Given the description of an element on the screen output the (x, y) to click on. 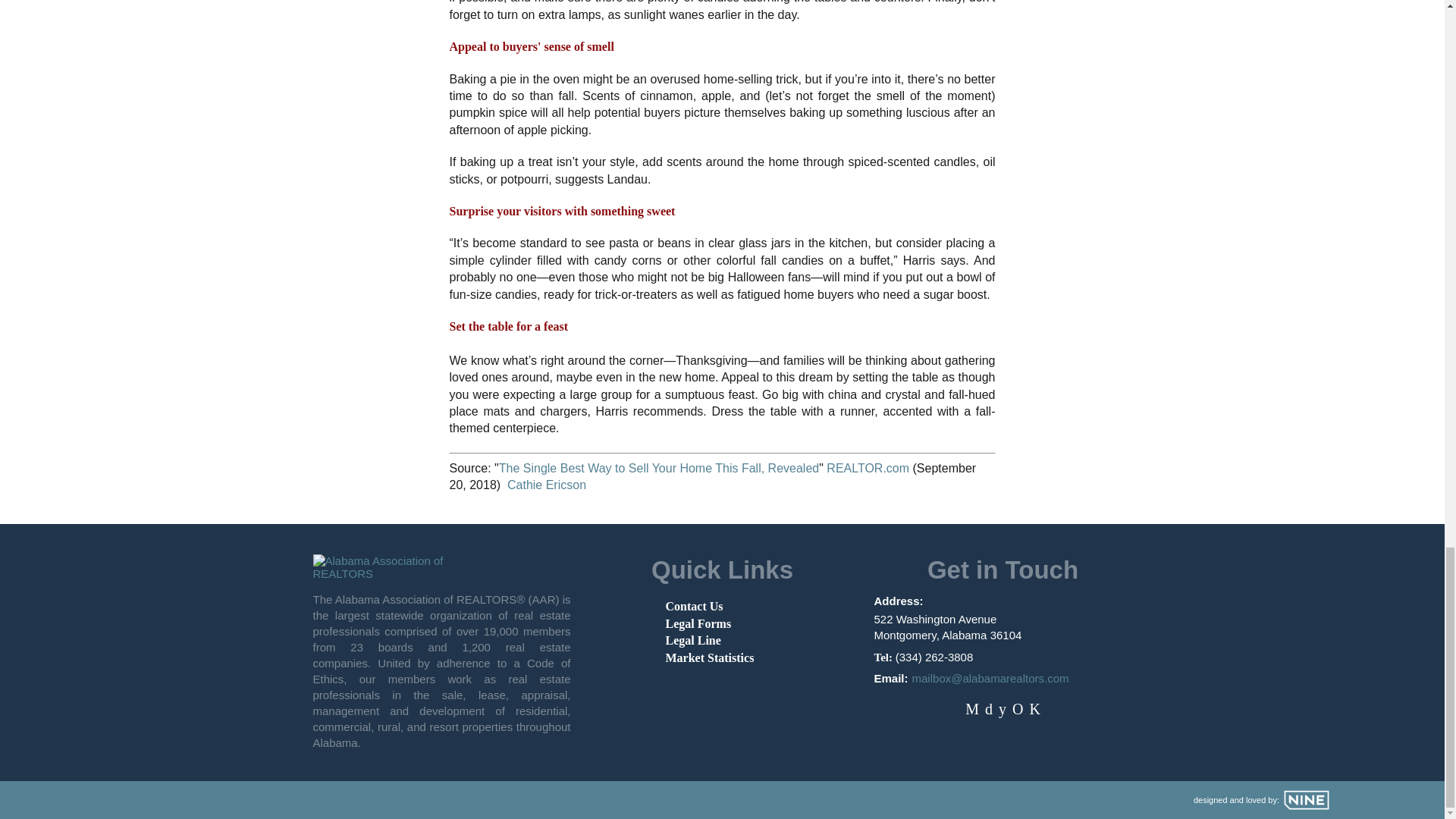
Legal Forms (698, 623)
Market Statistics (709, 657)
Legal Line (692, 640)
The Single Best Way to Sell Your Home This Fall, Revealed (658, 468)
REALTOR.com (867, 468)
Contact Us (694, 605)
Cathie Ericson (546, 484)
